Given the description of an element on the screen output the (x, y) to click on. 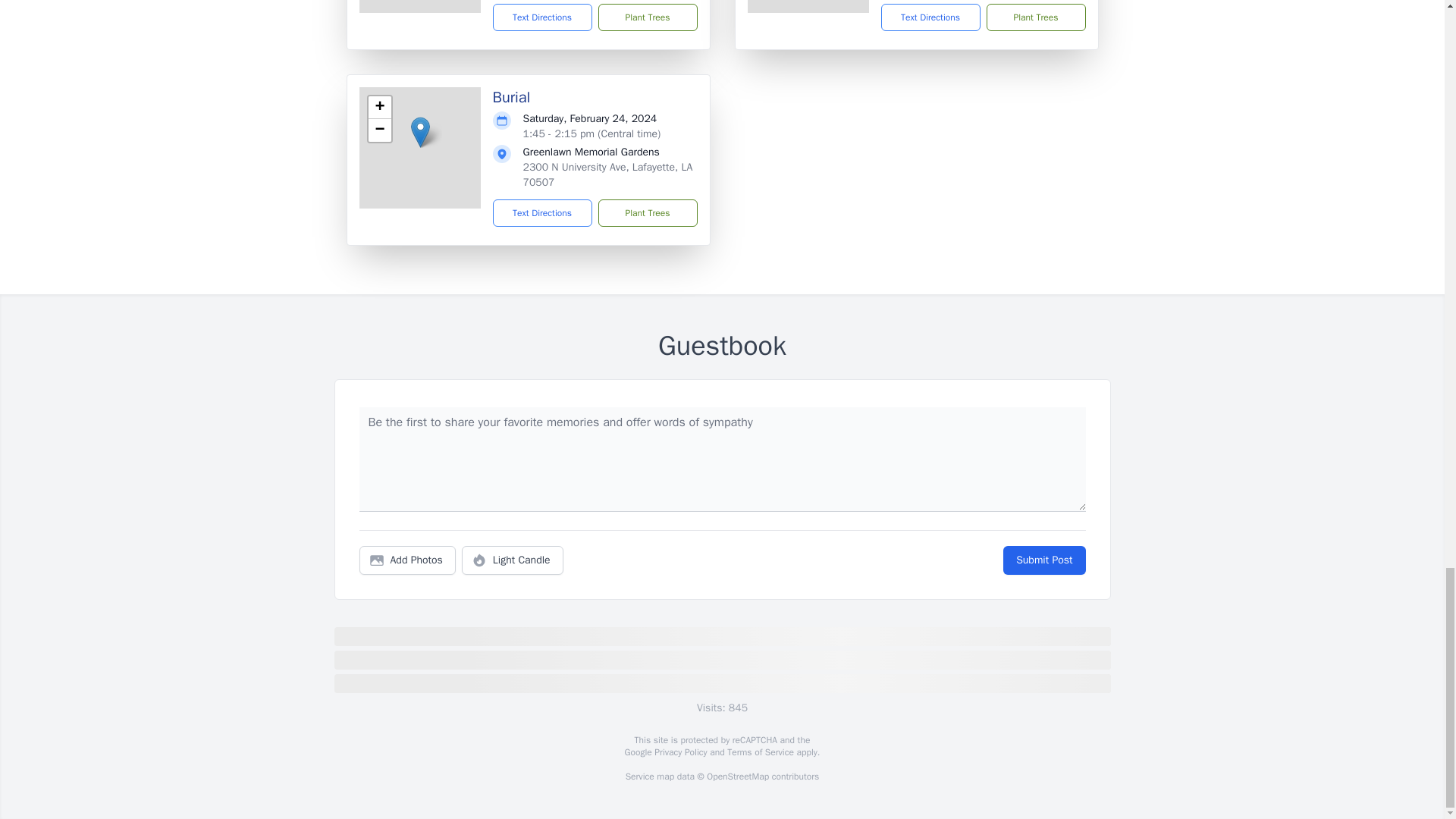
Text Directions (542, 17)
Plant Trees (646, 17)
Plant Trees (646, 212)
Text Directions (542, 212)
Zoom out (379, 129)
Text Directions (929, 17)
Plant Trees (1034, 17)
2300 N University Ave, Lafayette, LA 70507 (607, 174)
Zoom in (379, 107)
